Given the description of an element on the screen output the (x, y) to click on. 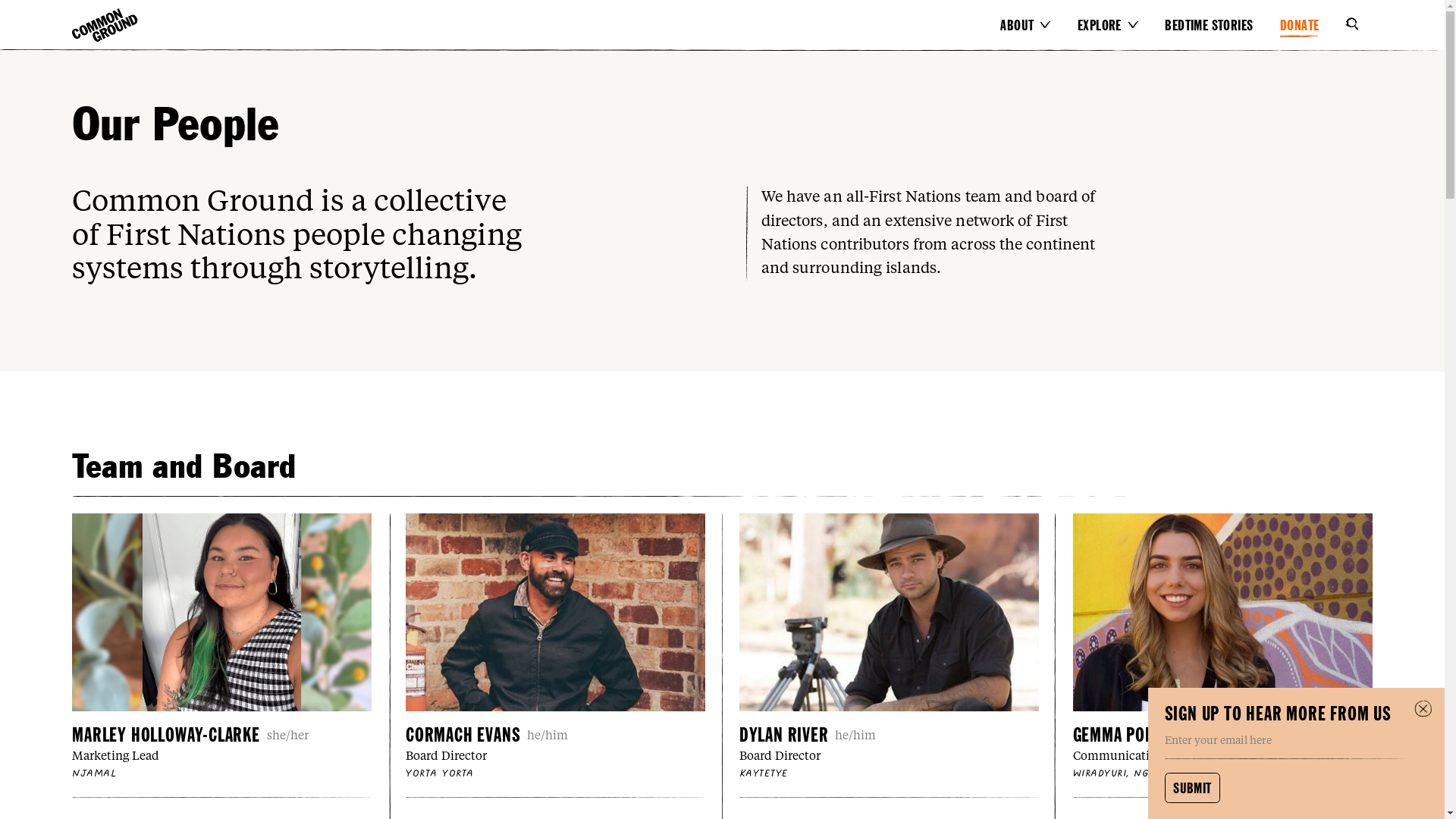
MARLEY HOLLOWAY-CLARKE
she/her
Marketing Lead
NJAMAL Element type: text (223, 647)
ABOUT Element type: text (1027, 24)
DONATE Element type: text (1310, 25)
BEDTIME STORIES Element type: text (1219, 25)
EXPLORE Element type: text (1110, 24)
DYLAN RIVER
he/him
Board Director
KAYTETYE Element type: text (895, 647)
CORMACH EVANS
he/him
Board Director
YORTA YORTA Element type: text (559, 647)
